Given the description of an element on the screen output the (x, y) to click on. 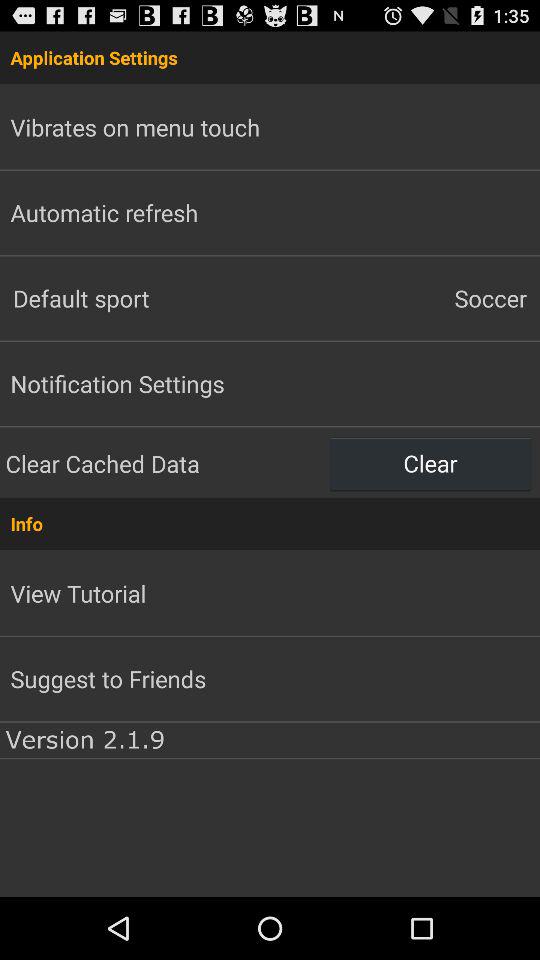
choose icon below the info (78, 593)
